Given the description of an element on the screen output the (x, y) to click on. 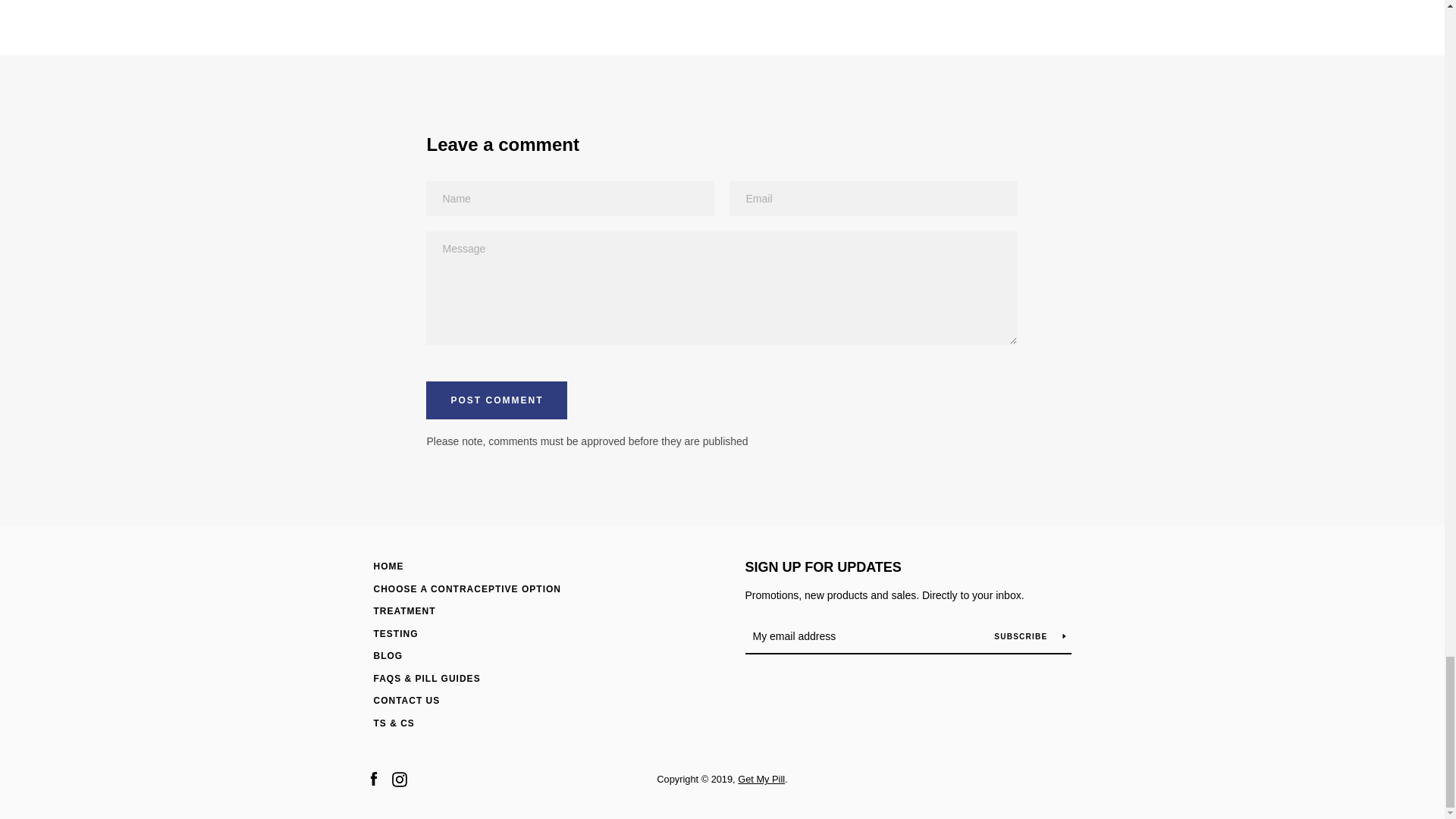
Get My Pill on Facebook (372, 778)
Post comment (496, 400)
Get My Pill on Instagram (399, 778)
